Given the description of an element on the screen output the (x, y) to click on. 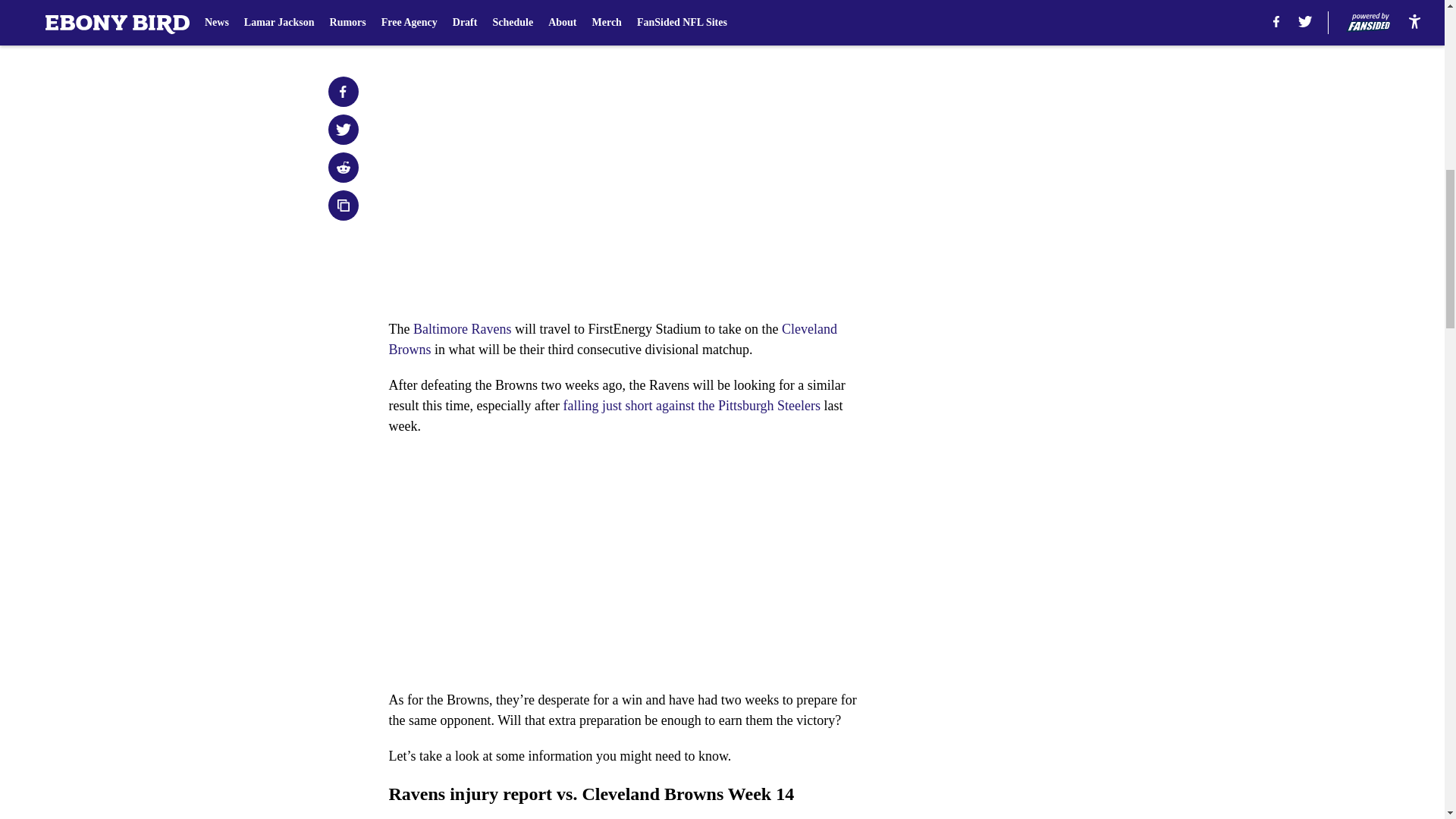
Baltimore Ravens (462, 328)
falling just short against the Pittsburgh Steelers (691, 405)
Cleveland Browns (612, 339)
